Given the description of an element on the screen output the (x, y) to click on. 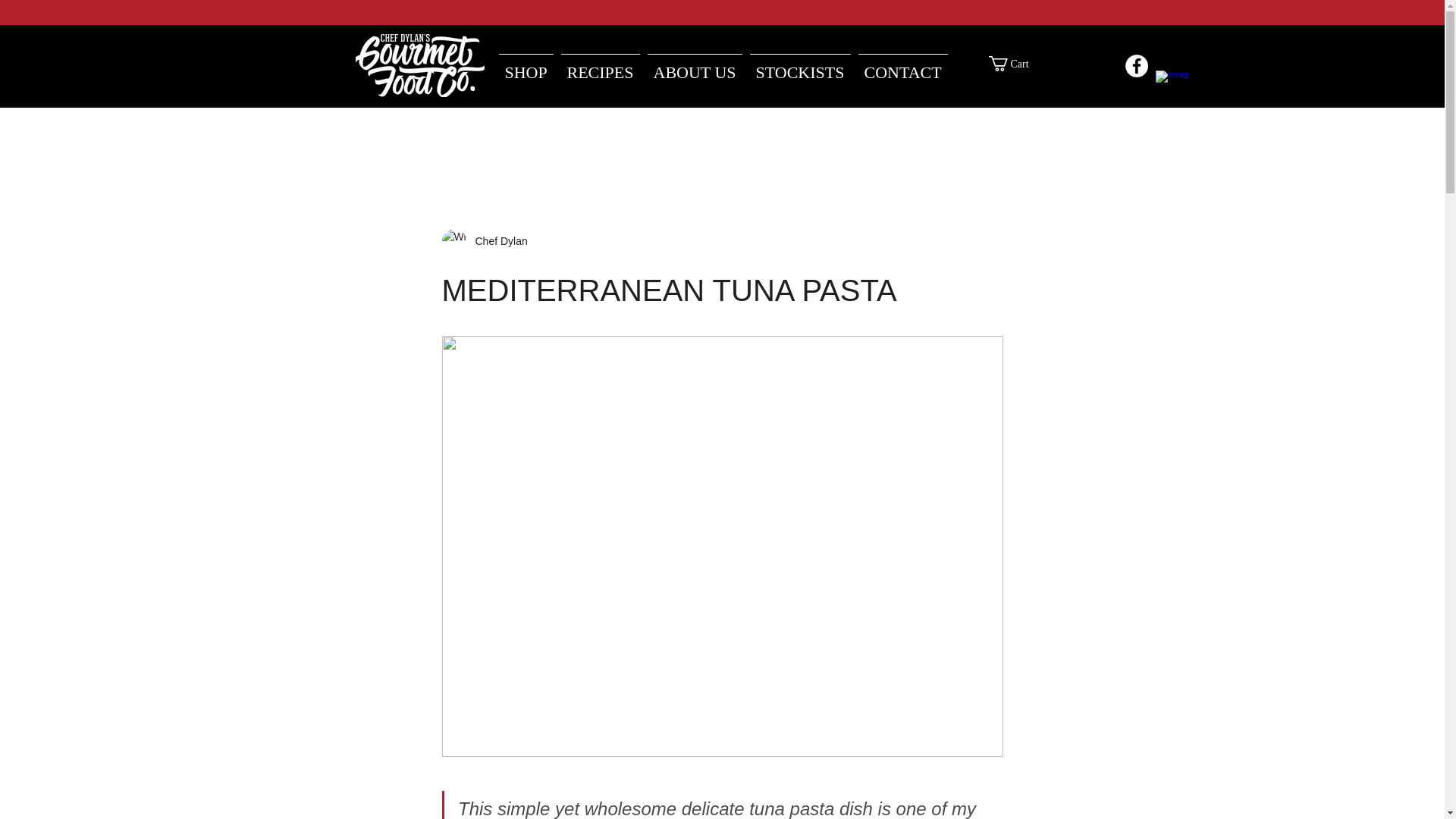
ABOUT US (694, 65)
SHOP (525, 65)
Chef Dylan (496, 241)
CONTACT (901, 65)
Cart (1014, 63)
STOCKISTS (799, 65)
RECIPES (599, 65)
Cart (1014, 63)
